Given the description of an element on the screen output the (x, y) to click on. 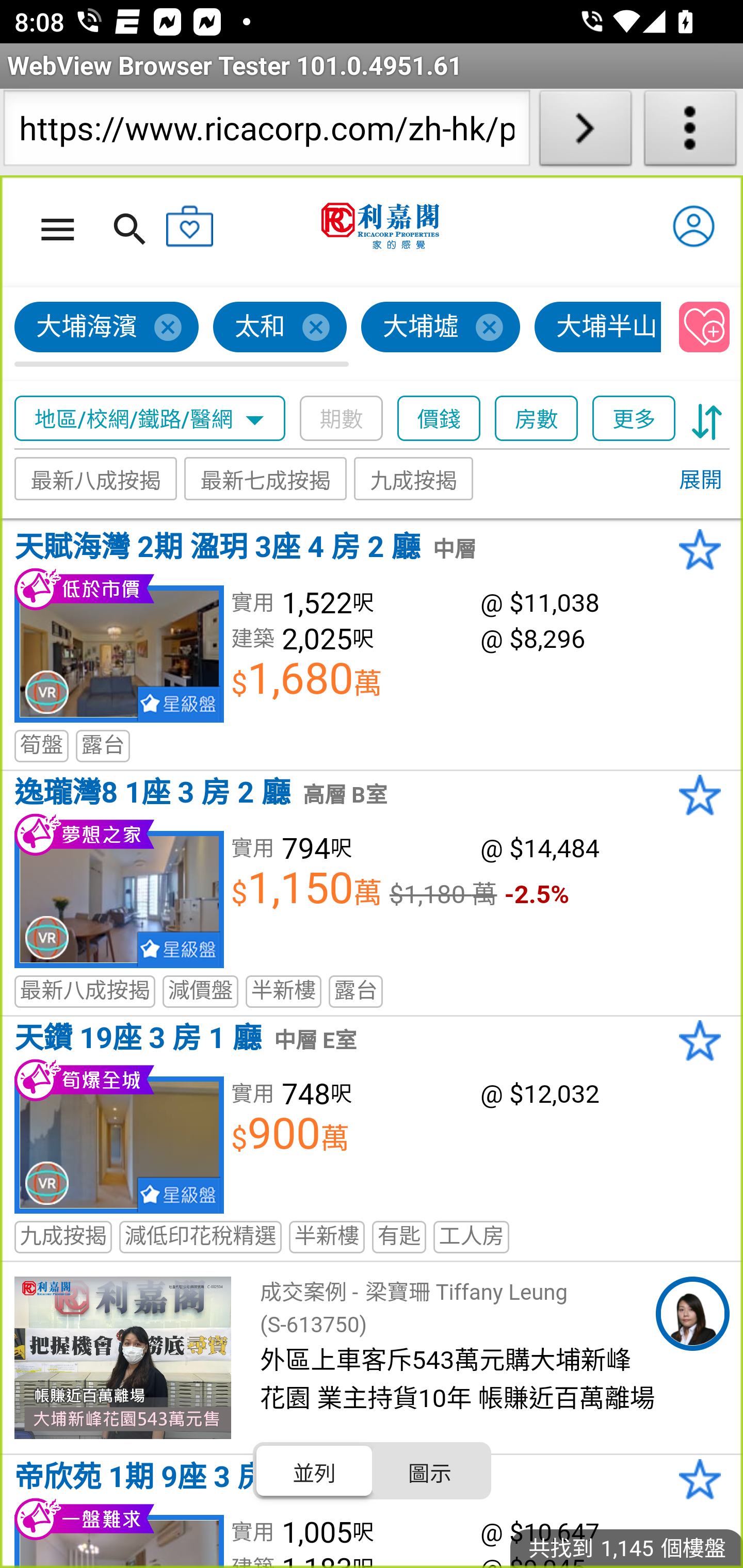
Load URL (585, 132)
About WebView (690, 132)
大埔海濱 (106, 327)
太和 (280, 327)
大埔墟 (441, 327)
大埔半山 (598, 327)
save (705, 327)
地區/校網/鐵路/醫網 (150, 418)
期數 (341, 418)
價錢 (439, 418)
房數 (536, 418)
更多 (634, 418)
sort (706, 418)
最新八成按揭 (96, 478)
最新七成按揭 (266, 478)
九成按揭 (413, 478)
展開 (699, 481)
Tiffany Leung (692, 1313)
並列 (314, 1470)
圖示 (429, 1470)
